Given the description of an element on the screen output the (x, y) to click on. 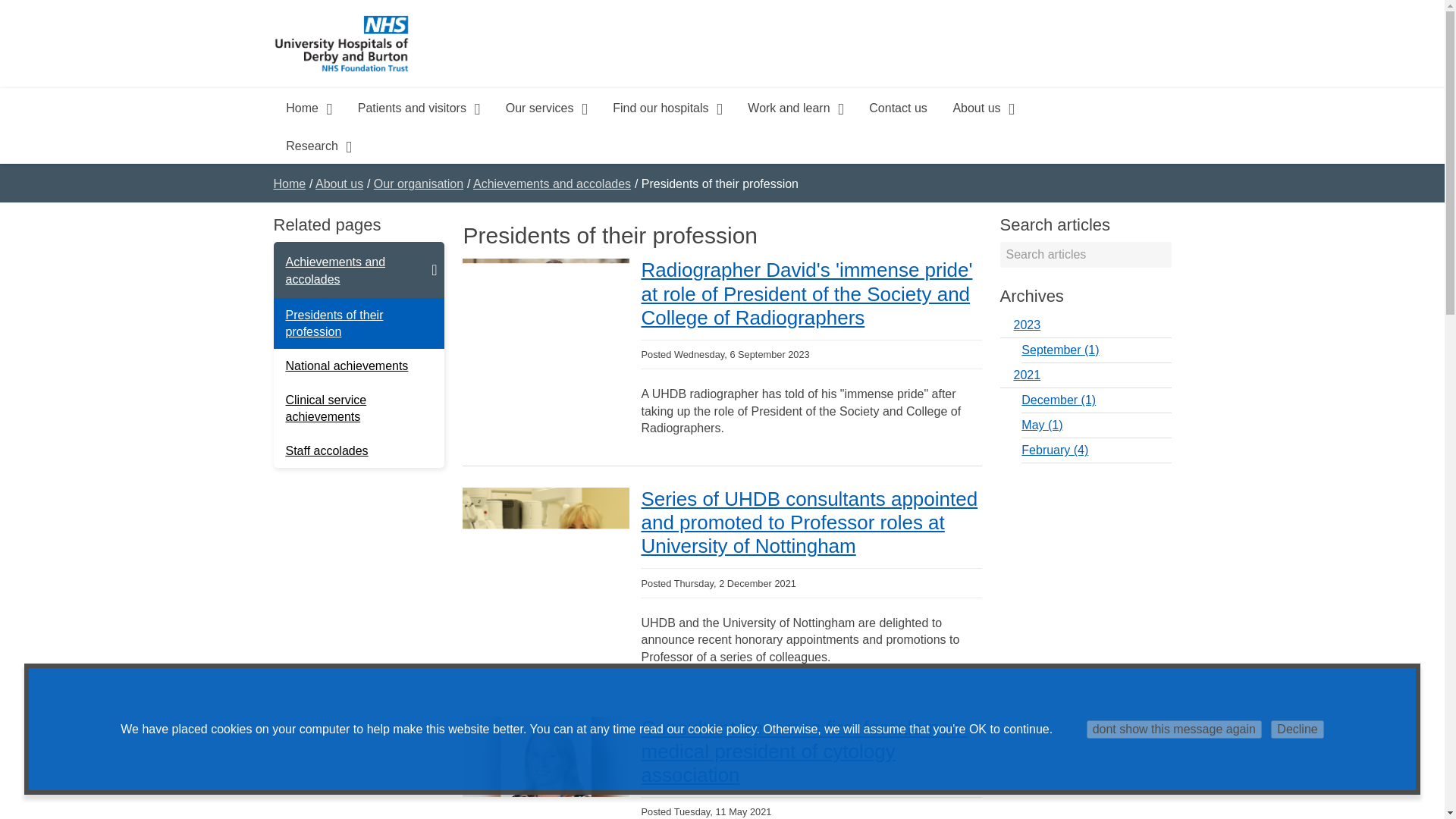
Decline (1297, 729)
Radiographer David (545, 299)
Search (1154, 254)
Patients and visitors (419, 106)
dont show this message again (1174, 729)
Home (308, 106)
